Given the description of an element on the screen output the (x, y) to click on. 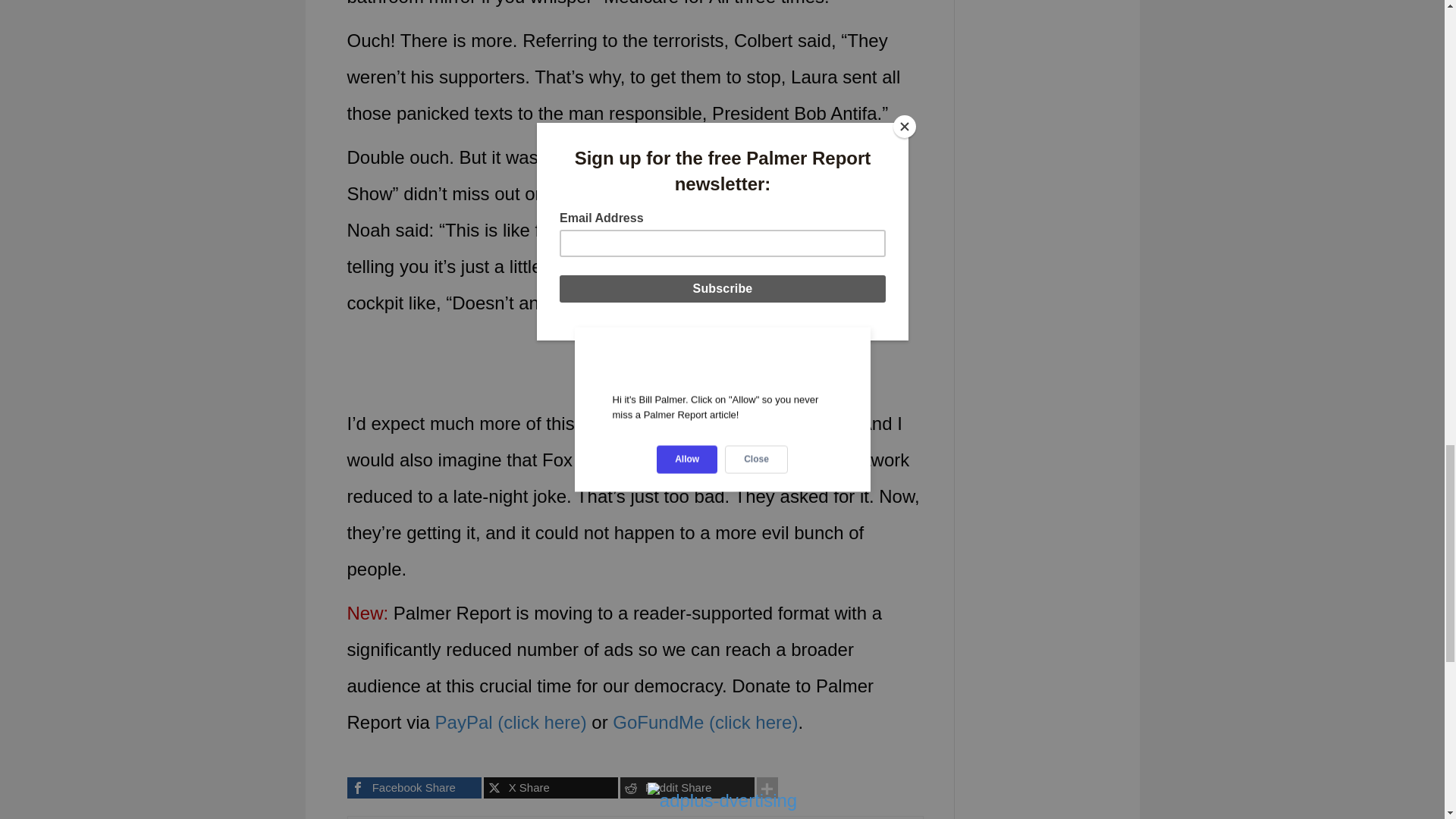
Reddit Share (687, 787)
X Share (550, 787)
Facebook Share (414, 787)
